Given the description of an element on the screen output the (x, y) to click on. 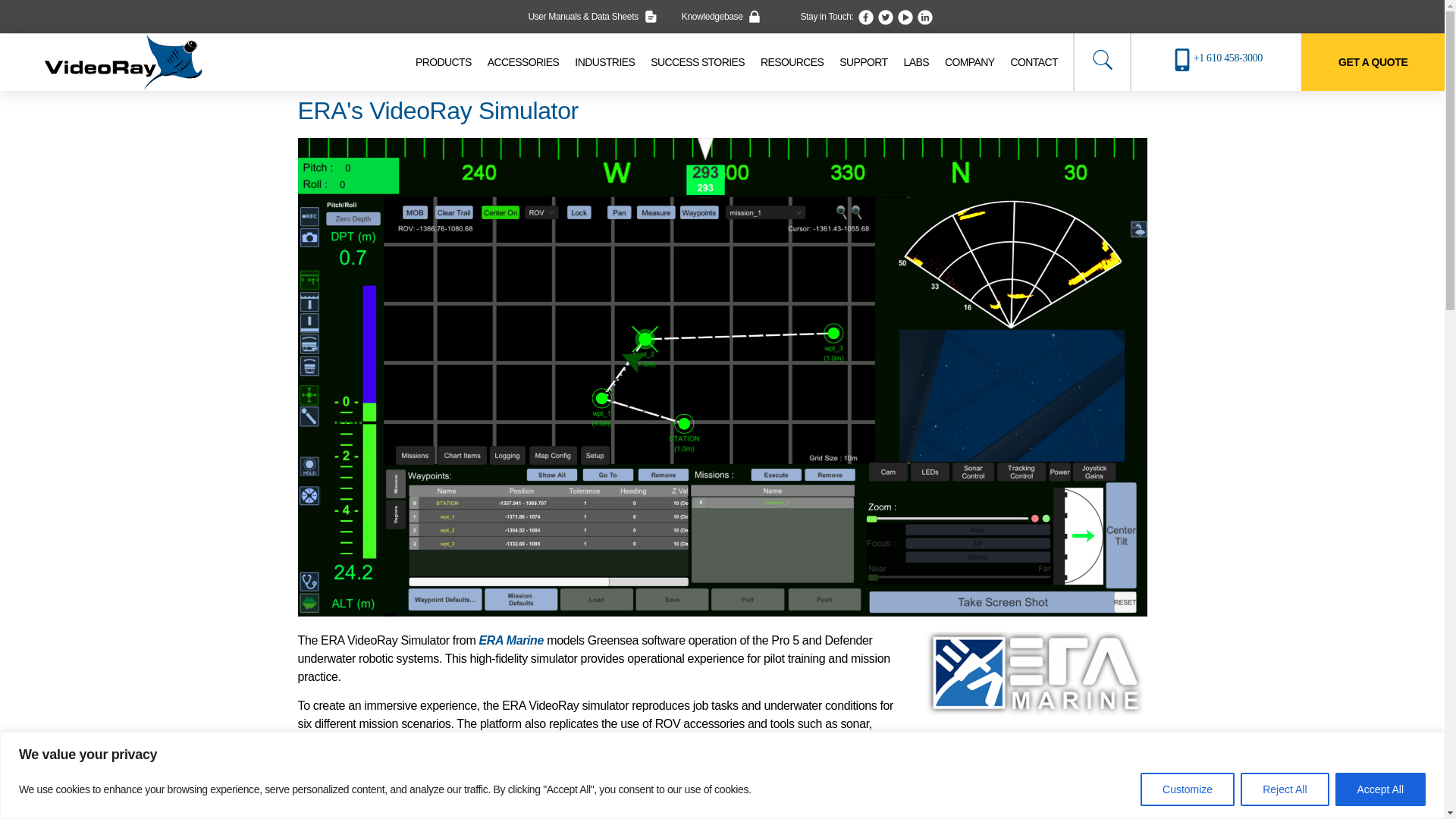
Accept All (1380, 788)
Customize (1187, 788)
Reject All (1283, 788)
